Given the description of an element on the screen output the (x, y) to click on. 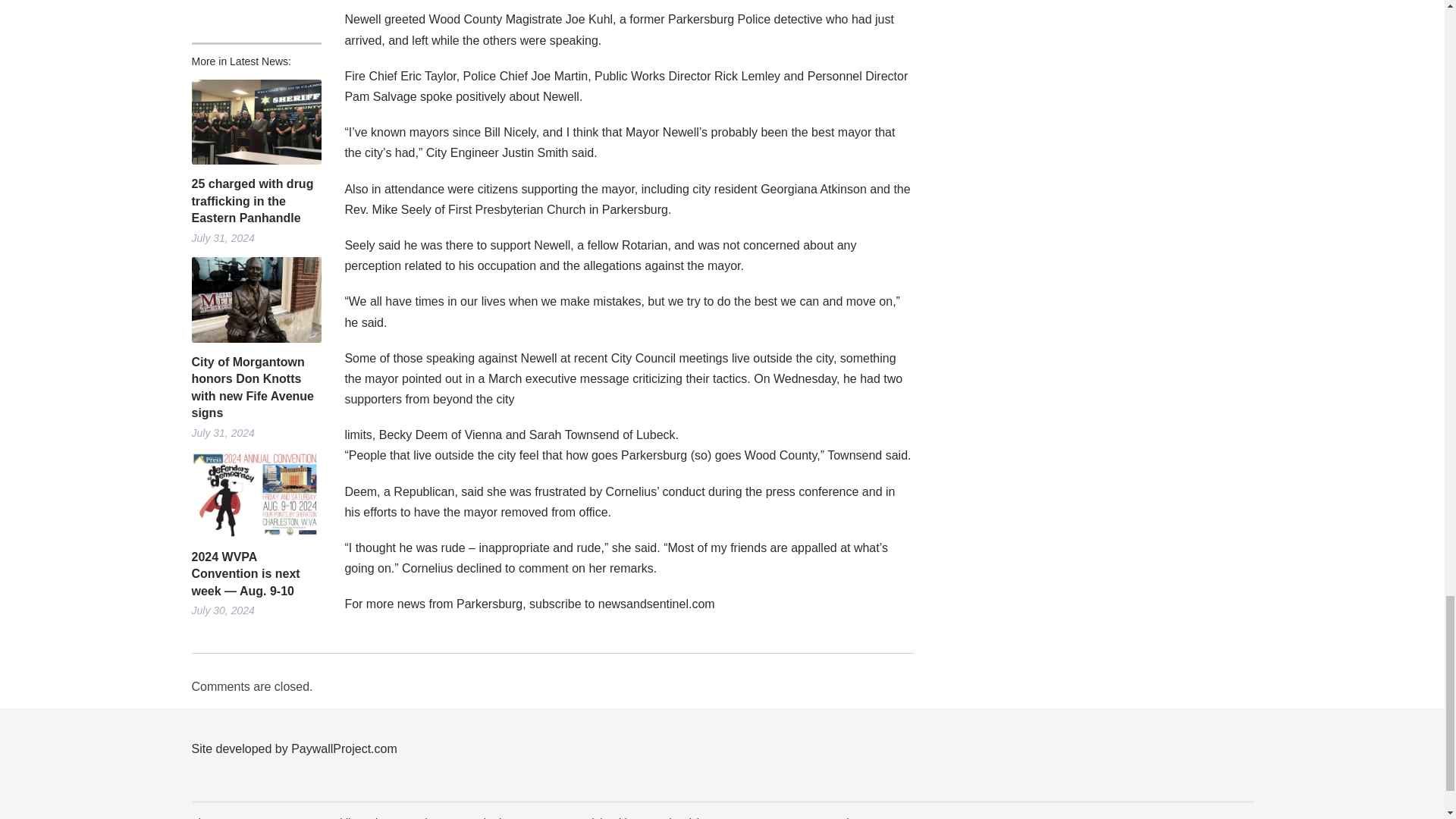
Page 3 (627, 519)
